Given the description of an element on the screen output the (x, y) to click on. 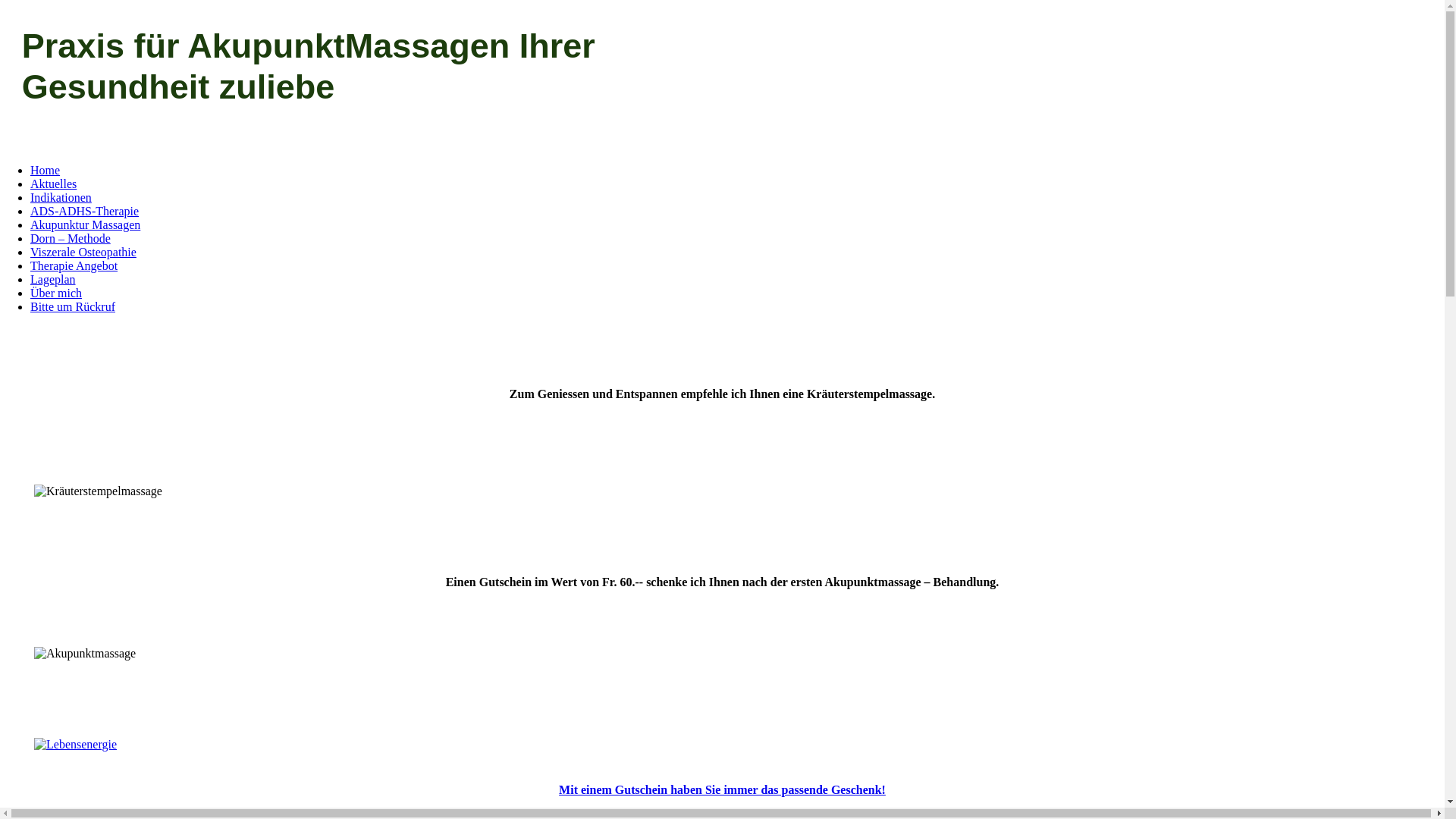
Home Element type: text (44, 169)
Akupunktur Massagen Element type: text (85, 224)
Mit einem Gutschein haben Sie immer das passende Geschenk! Element type: text (721, 789)
Indikationen Element type: text (60, 197)
Lageplan Element type: text (52, 279)
Viszerale Osteopathie Element type: text (83, 251)
Therapie Angebot Element type: text (73, 265)
Aktuelles Element type: text (53, 183)
ADS-ADHS-Therapie Element type: text (84, 210)
